Given the description of an element on the screen output the (x, y) to click on. 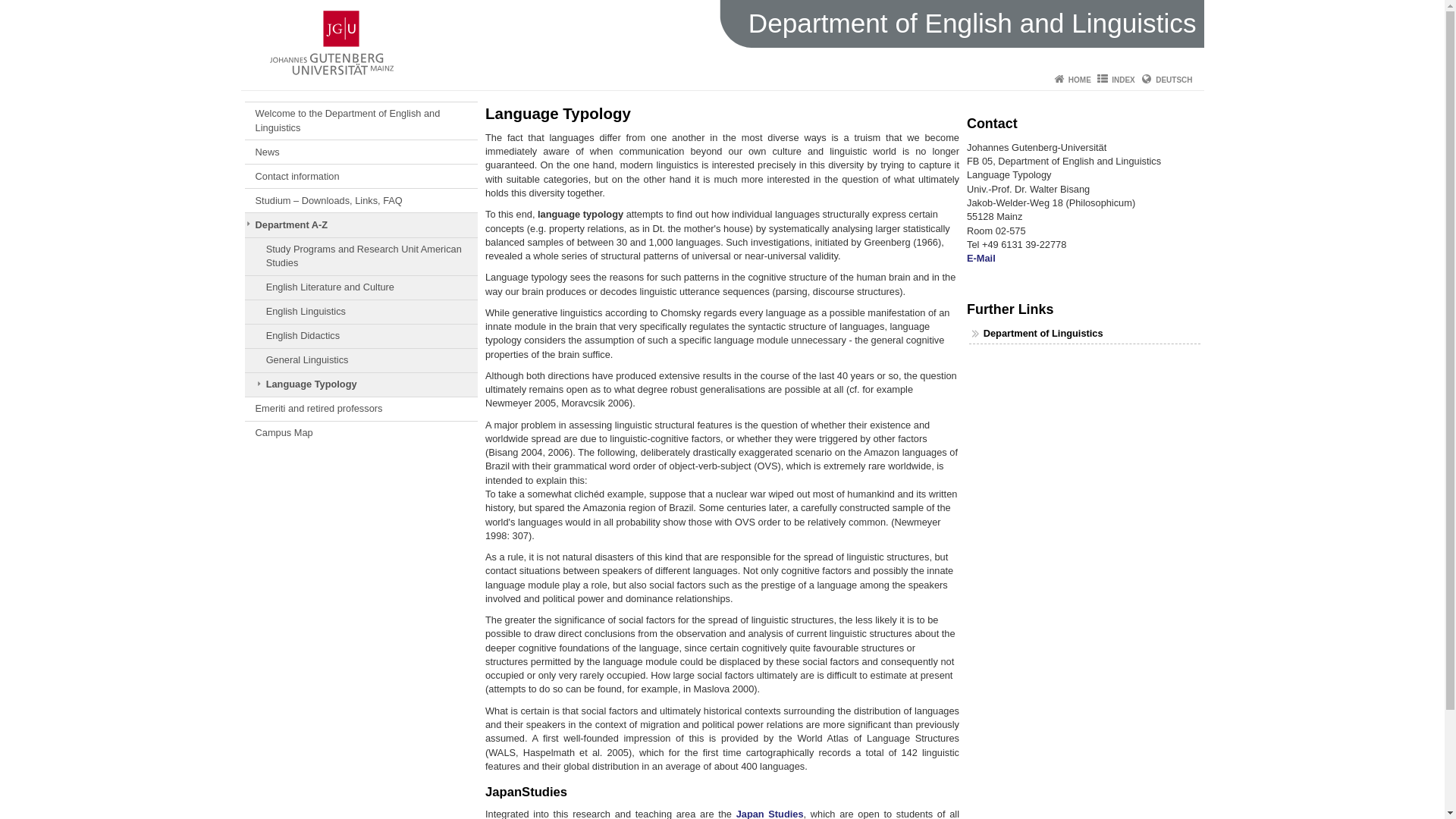
Johannes Gutenberg University Mainz (331, 42)
